Given the description of an element on the screen output the (x, y) to click on. 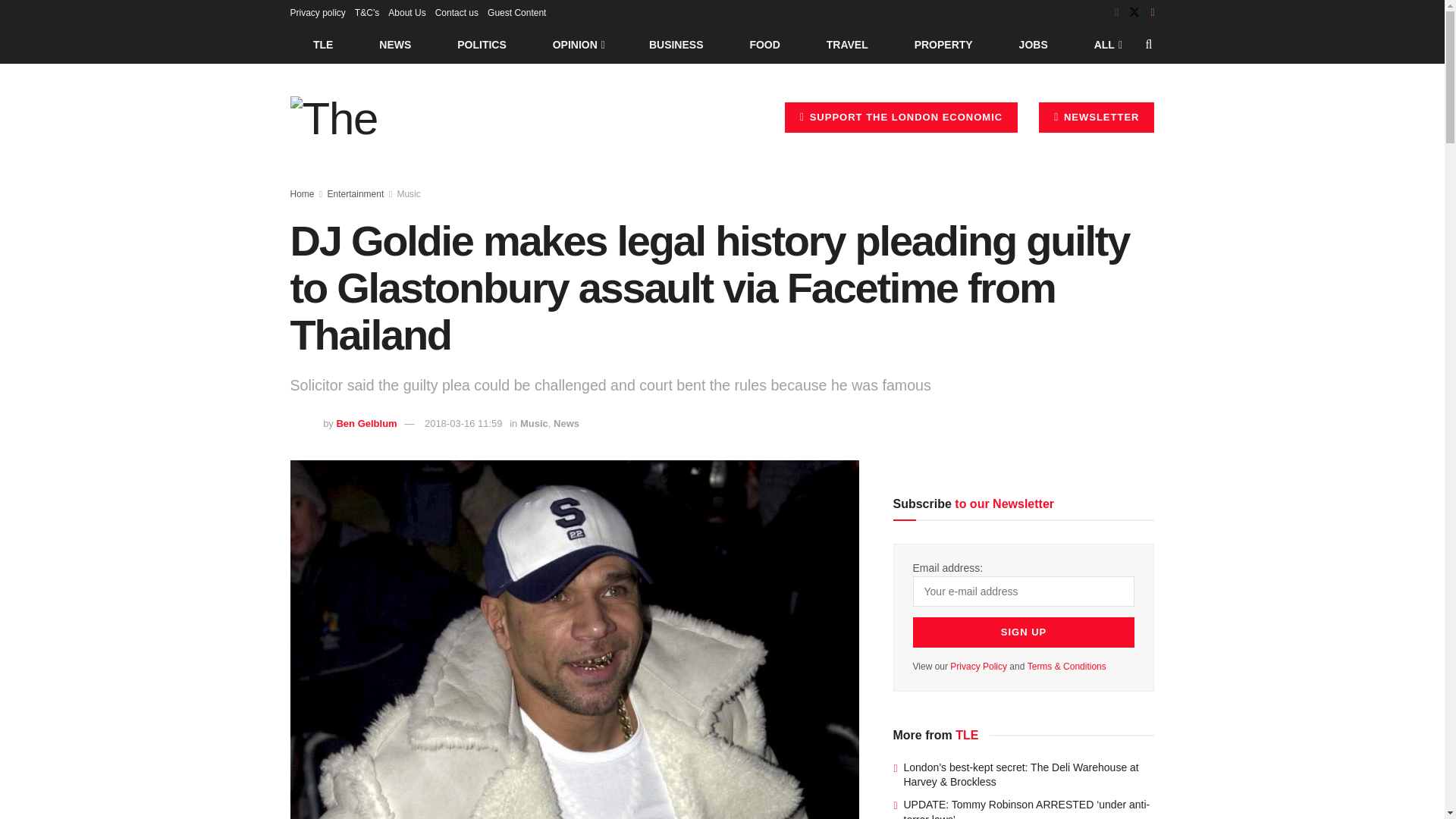
ALL (1106, 44)
SUPPORT THE LONDON ECONOMIC (900, 117)
TRAVEL (847, 44)
Home (301, 194)
POLITICS (481, 44)
JOBS (1032, 44)
NEWS (394, 44)
Privacy policy (317, 12)
FOOD (764, 44)
About Us (406, 12)
TLE (322, 44)
Contact us (457, 12)
Guest Content (516, 12)
Sign up (1023, 632)
BUSINESS (676, 44)
